Given the description of an element on the screen output the (x, y) to click on. 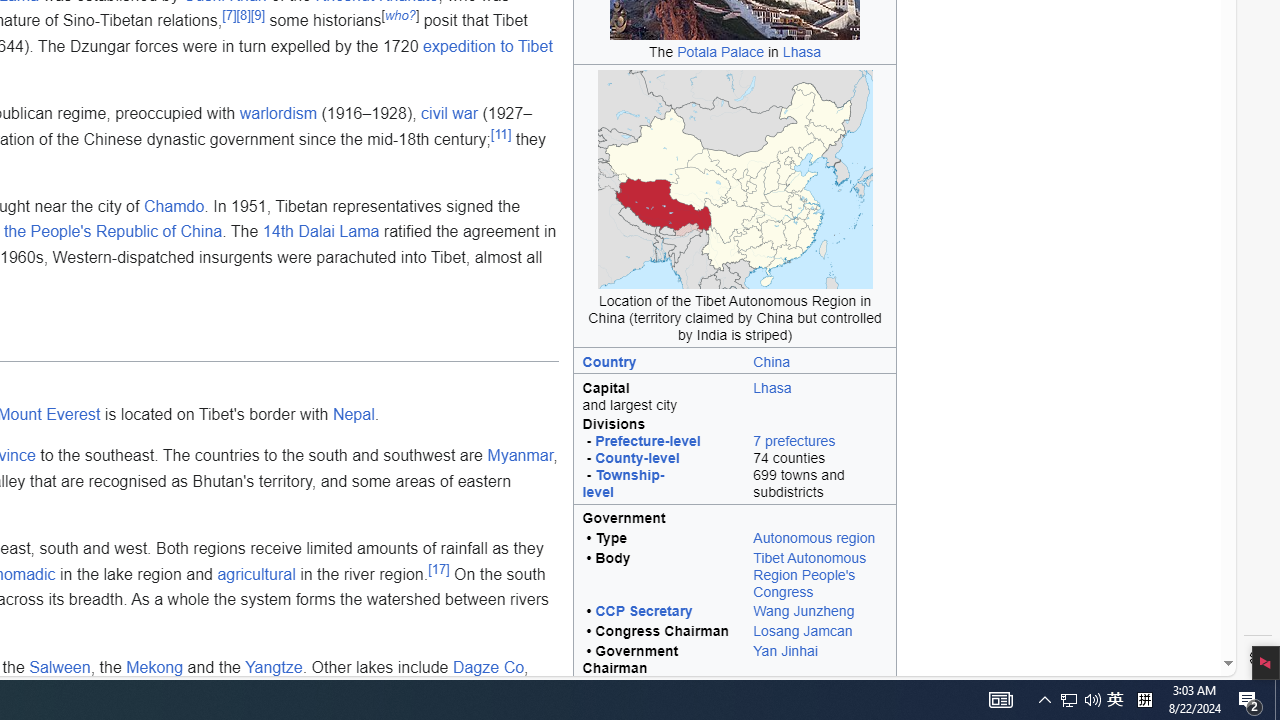
China (820, 360)
7 prefectures (793, 441)
warlordism (278, 114)
agricultural (256, 574)
Tibet Autonomous Region People's Congress (820, 576)
who? (400, 15)
